Given the description of an element on the screen output the (x, y) to click on. 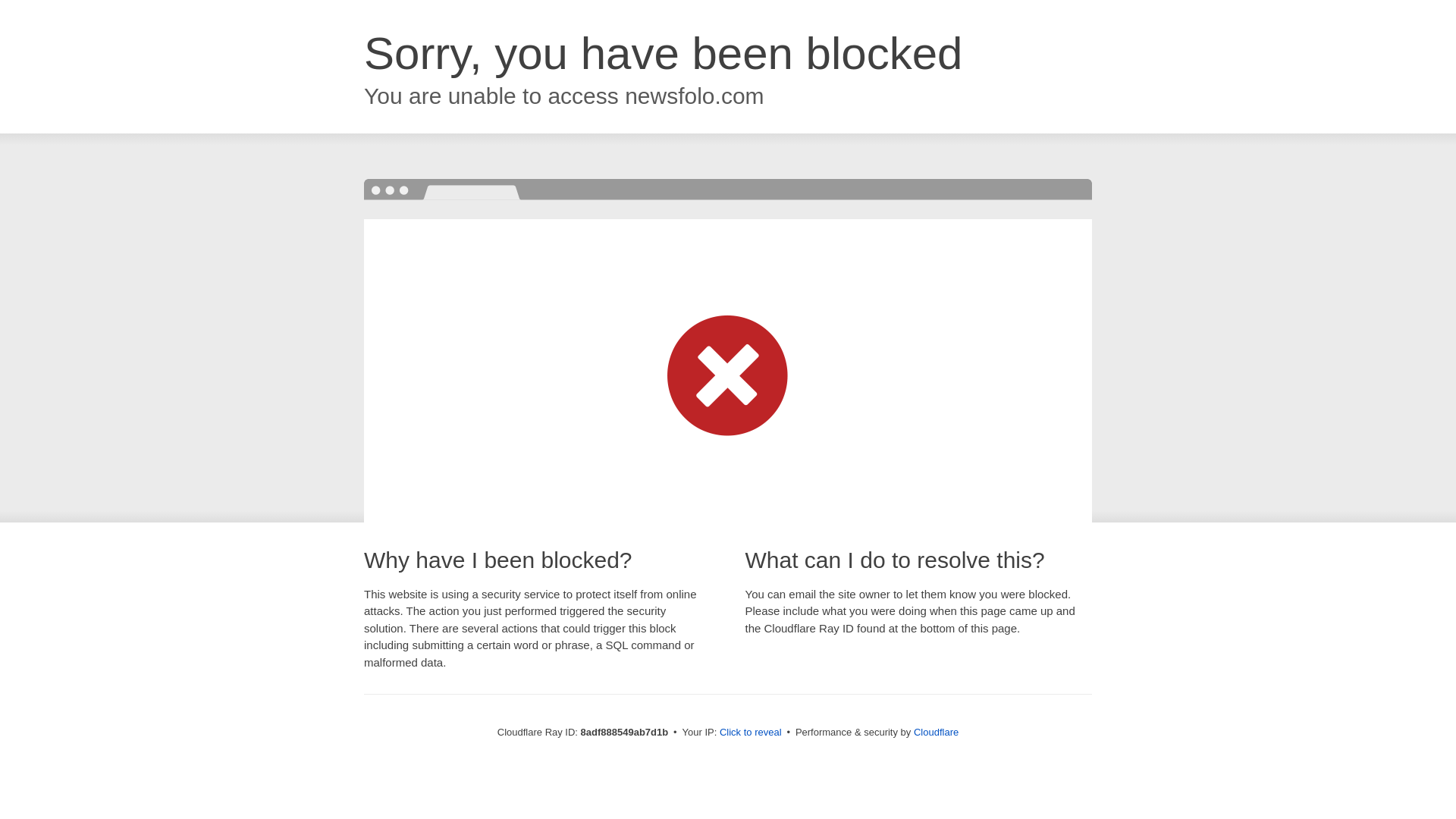
Click to reveal (750, 732)
Cloudflare (936, 731)
